Given the description of an element on the screen output the (x, y) to click on. 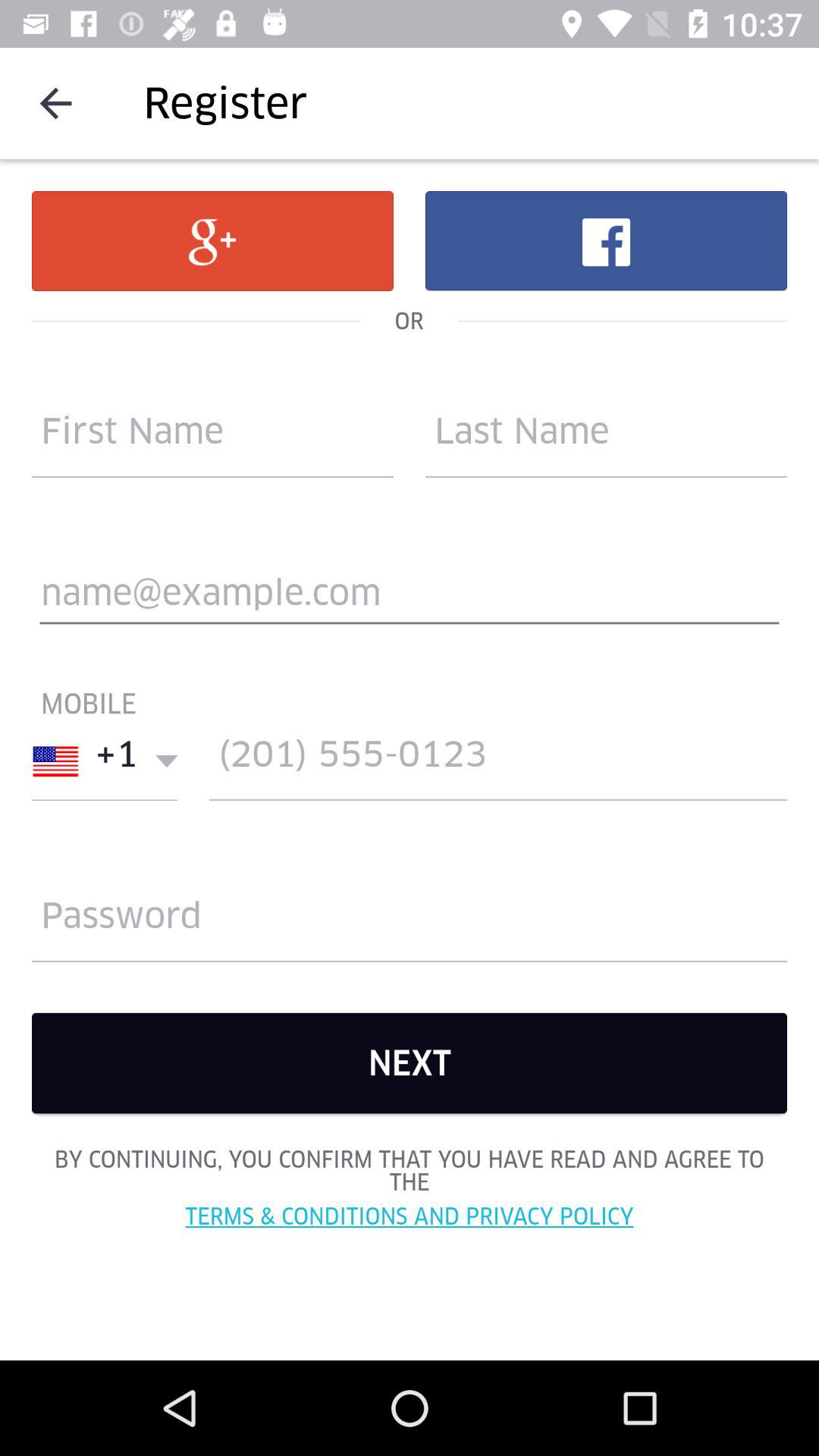
toggle the accouynt reate option (212, 438)
